Given the description of an element on the screen output the (x, y) to click on. 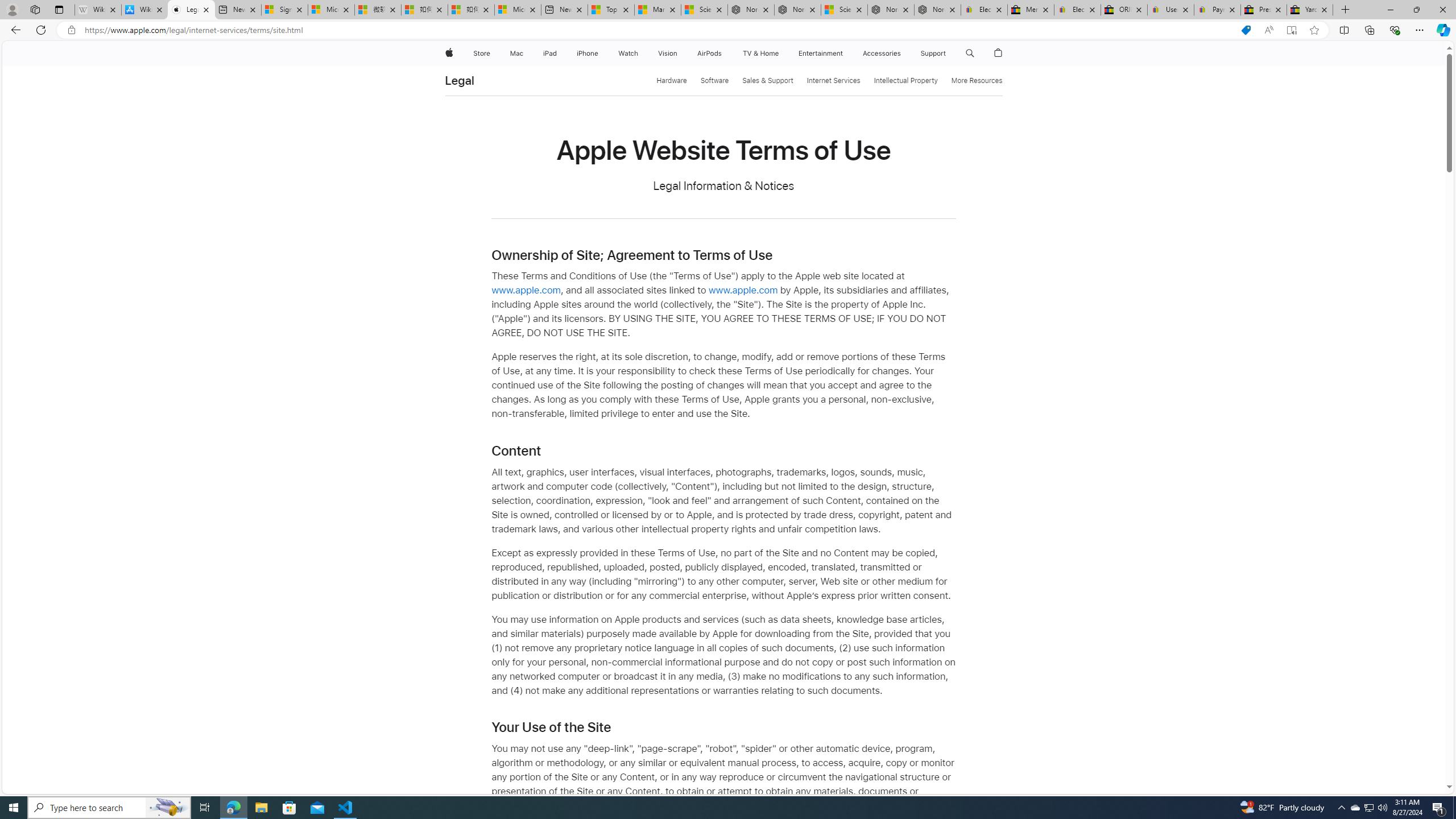
Internet Services (833, 80)
Marine life - MSN (656, 9)
Intellectual Property (905, 80)
Sales & Support (767, 80)
Internet Services (833, 80)
Apple (448, 53)
Accessories (881, 53)
